Given the description of an element on the screen output the (x, y) to click on. 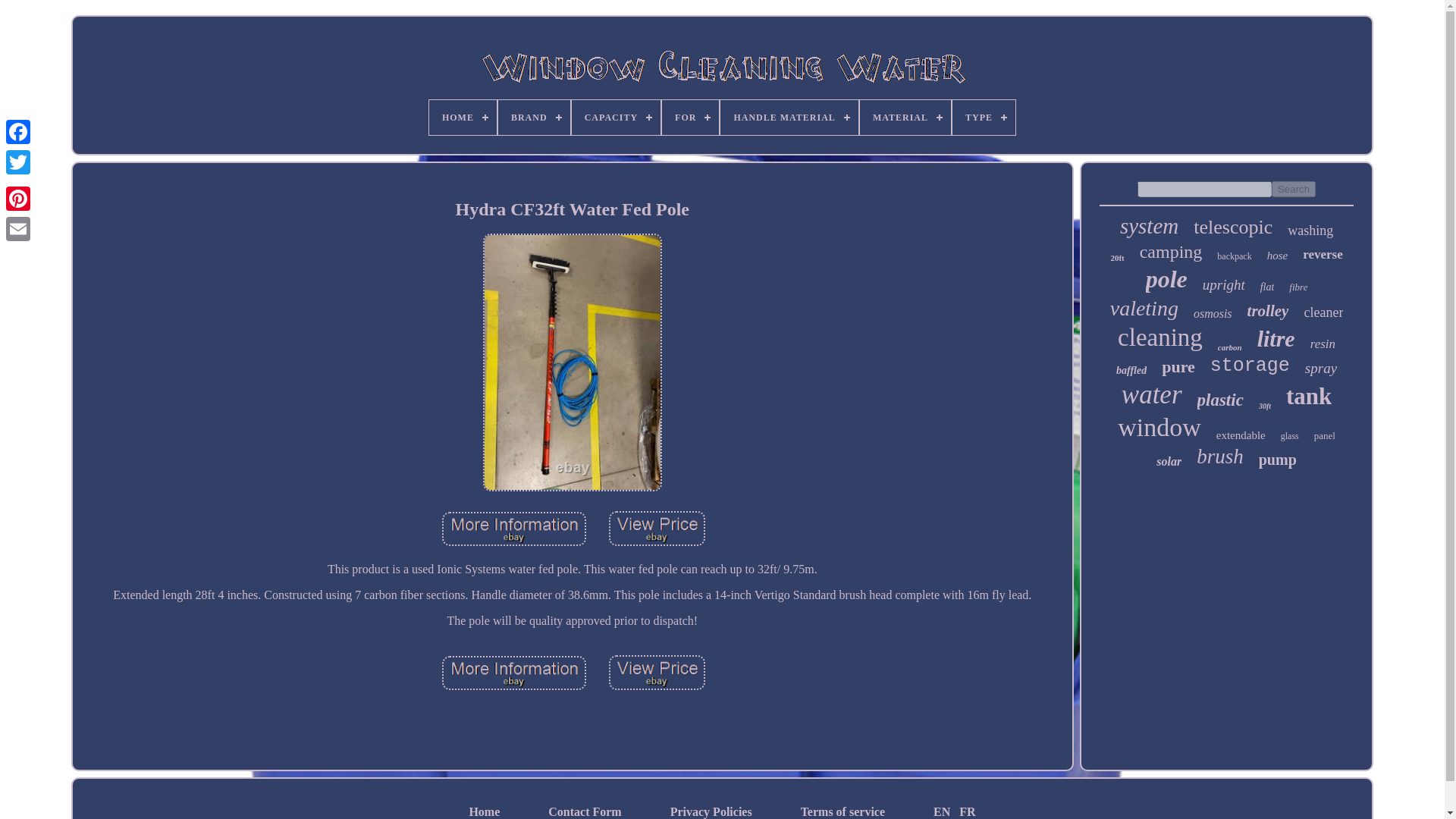
BRAND (533, 117)
Hydra CF32ft Water Fed Pole (656, 672)
Hydra Cf32ft Water Fed Pole (513, 530)
Search (1293, 188)
Hydra CF32ft Water Fed Pole (514, 528)
Hydra Cf32ft Water Fed Pole (657, 529)
Hydra Cf32ft Water Fed Pole (657, 673)
HOME (462, 117)
Hydra Cf32ft Water Fed Pole (513, 674)
CAPACITY (616, 117)
Hydra CF32ft Water Fed Pole (514, 673)
Hydra Cf32ft Water Fed Pole (571, 209)
Hydra CF32ft Water Fed Pole (656, 528)
